Given the description of an element on the screen output the (x, y) to click on. 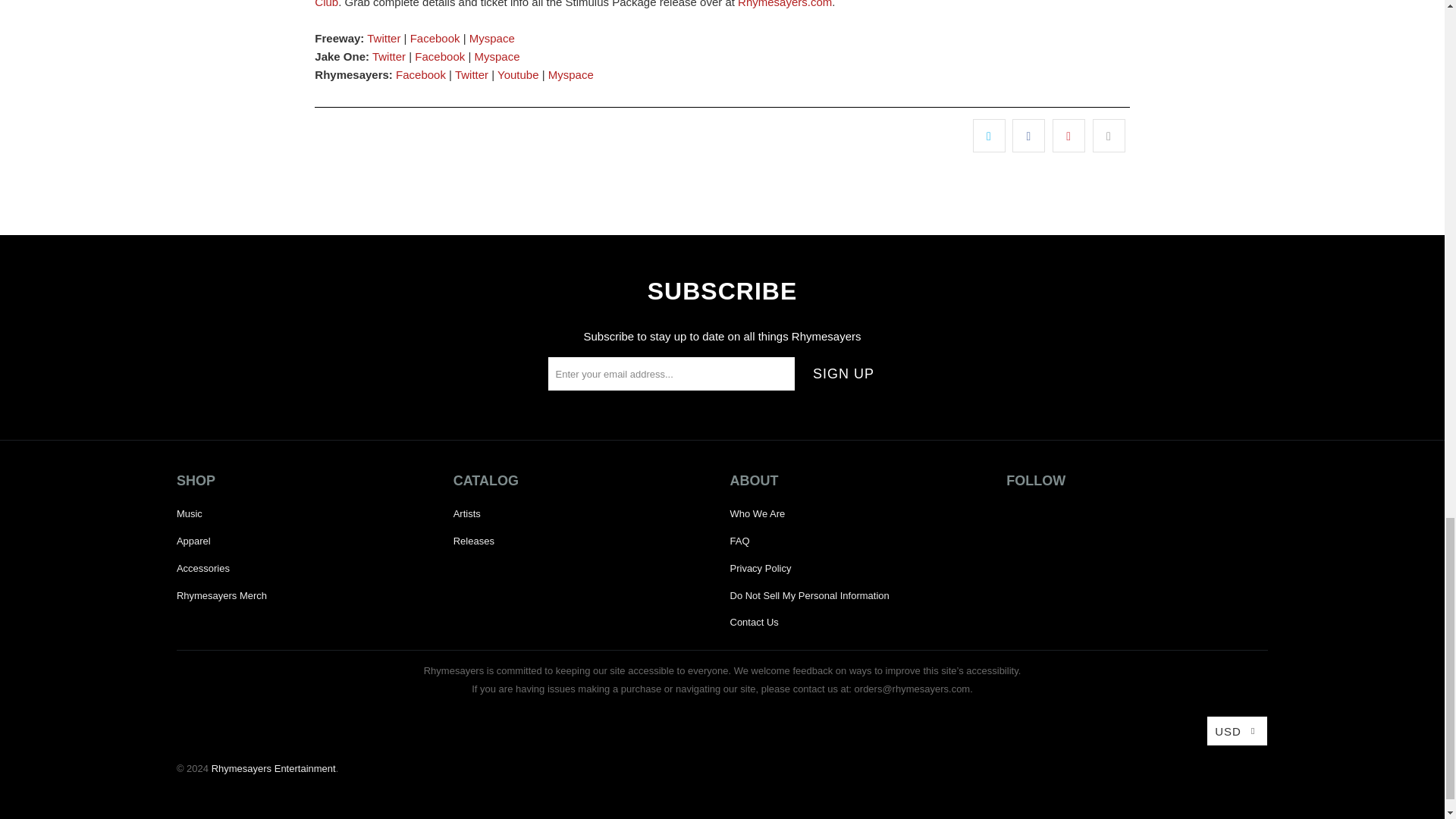
Opens in a new window (496, 56)
Opens in a new window (389, 56)
Opens in a new window (470, 74)
Opens in a new window (420, 74)
Sign Up (842, 373)
Opens in a new window (435, 38)
Opens in a new window (383, 38)
Opens in a new window (491, 38)
Opens in a new window (439, 56)
